Given the description of an element on the screen output the (x, y) to click on. 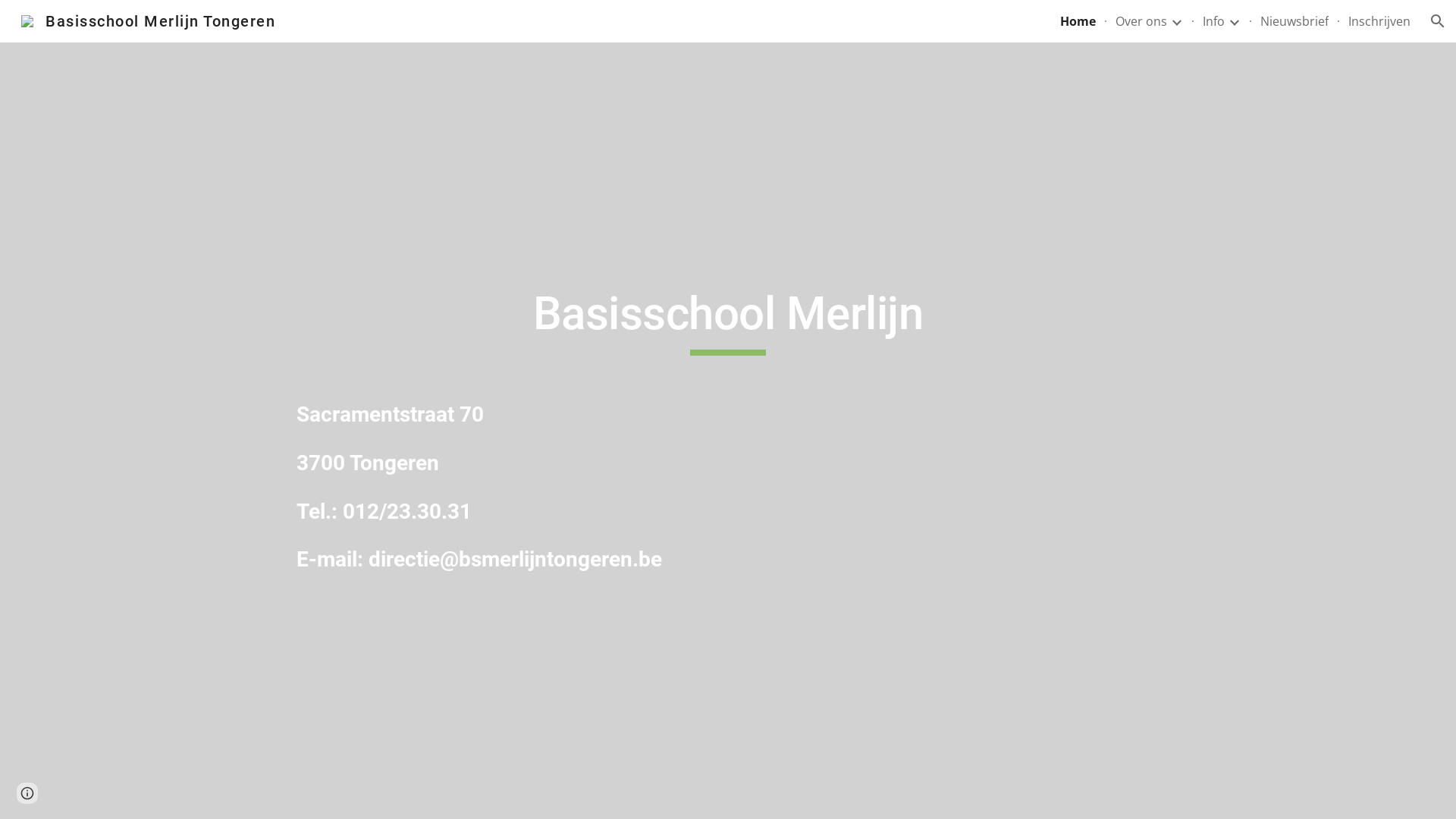
Expand/Collapse Element type: hover (1176, 20)
Expand/Collapse Element type: hover (1233, 20)
Nieuwsbrief Element type: text (1294, 20)
Info Element type: text (1213, 20)
Over ons Element type: text (1141, 20)
Home Element type: text (1077, 20)
Basisschool Merlijn Tongeren Element type: text (148, 19)
Inschrijven Element type: text (1379, 20)
